Given the description of an element on the screen output the (x, y) to click on. 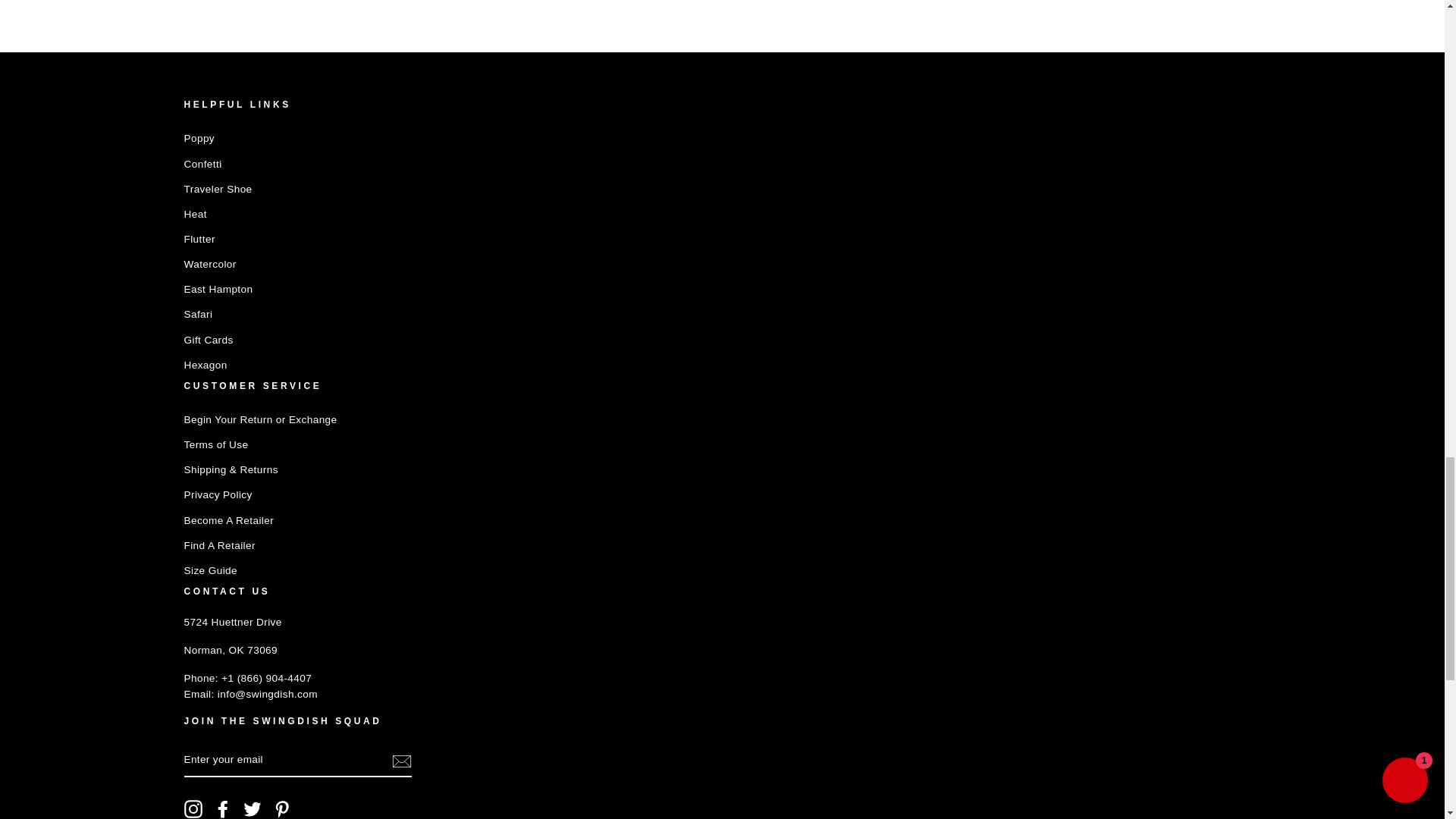
SwingDish on Instagram (192, 809)
SwingDish on Pinterest (282, 809)
SwingDish on Facebook (222, 809)
SwingDish on Twitter (251, 809)
